Given the description of an element on the screen output the (x, y) to click on. 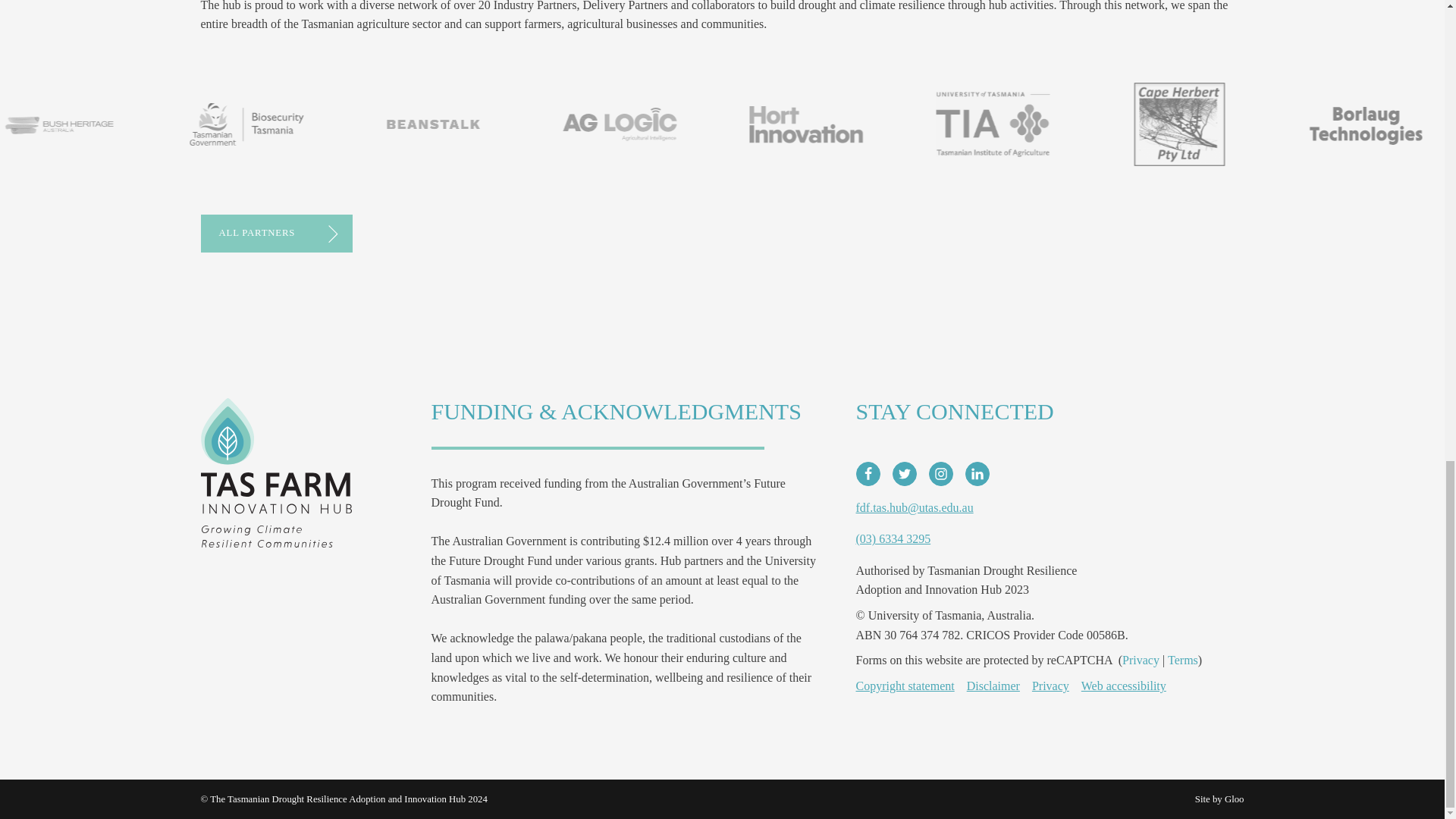
Privacy (1050, 686)
Terms (1182, 660)
Web accessibility (1123, 686)
Privacy (1140, 660)
Copyright statement (904, 686)
Gloo (1234, 798)
Disclaimer (993, 686)
ALL PARTNERS (276, 233)
